Given the description of an element on the screen output the (x, y) to click on. 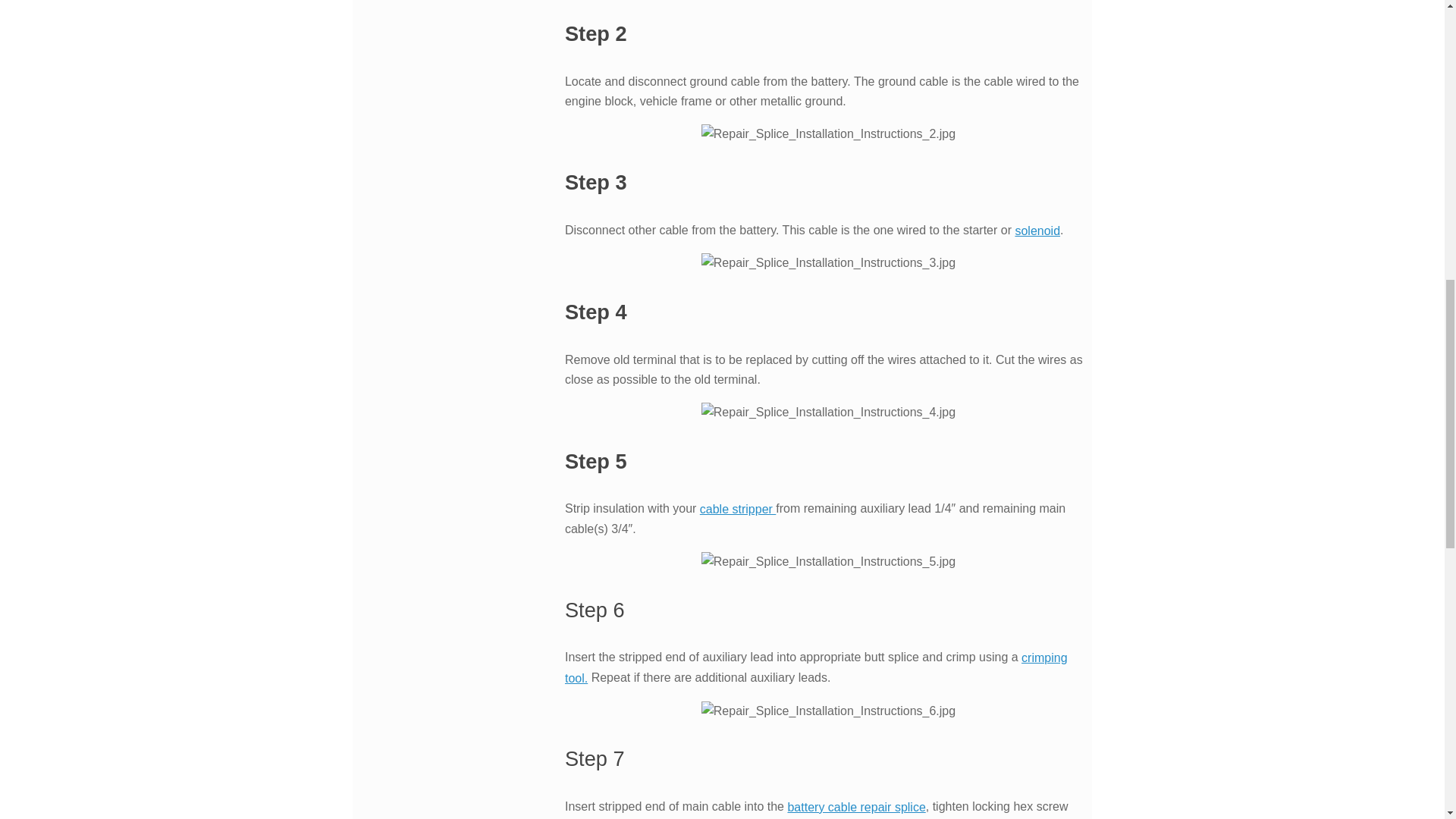
cable stripper (738, 508)
battery cable repair splice (855, 807)
crimping tool. (815, 667)
solenoid (1036, 230)
